Given the description of an element on the screen output the (x, y) to click on. 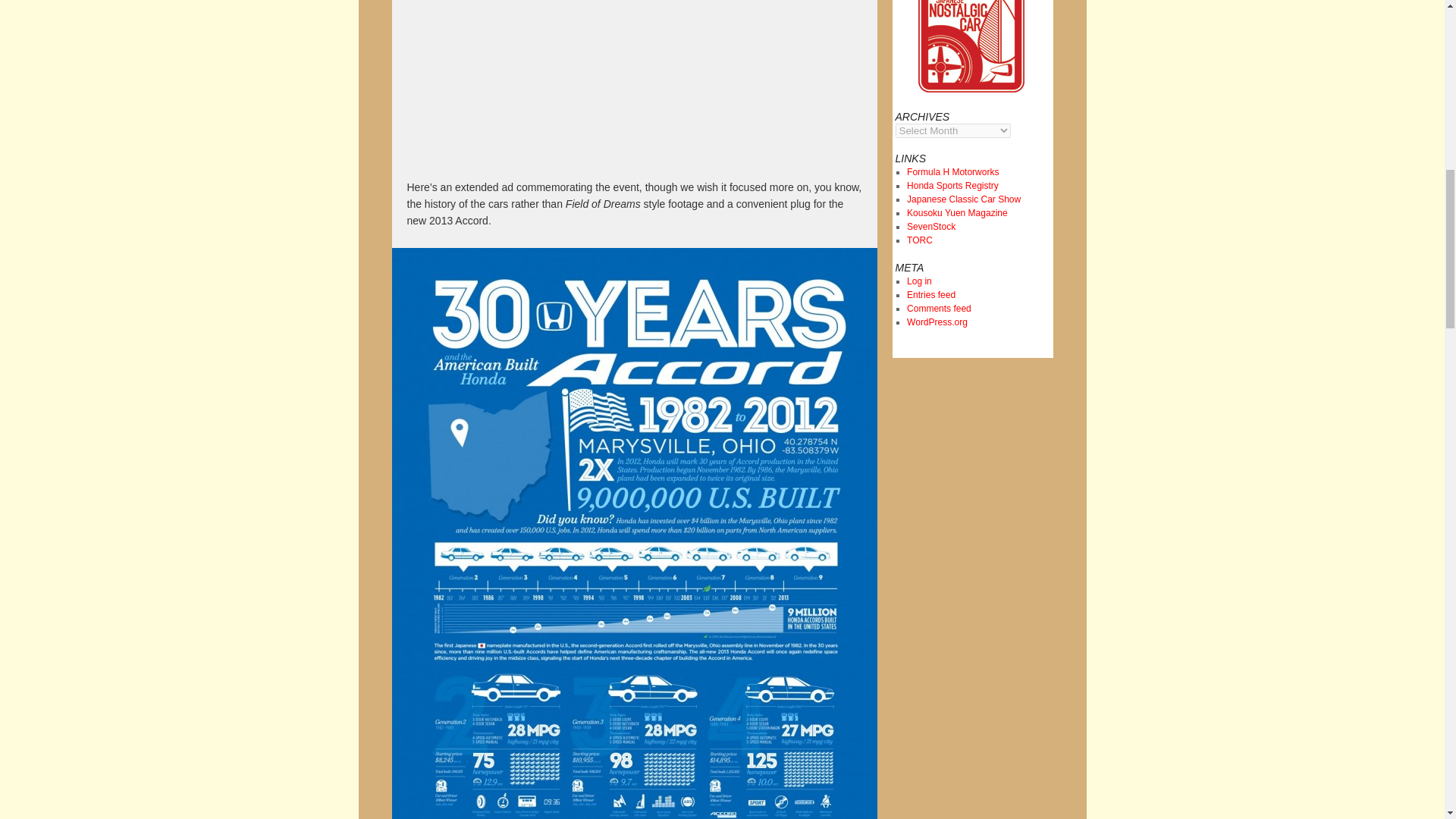
Honda Sports Registry (952, 185)
Formula H Motorworks (952, 172)
The premier Japanese classic event in North America.  (963, 199)
